Given the description of an element on the screen output the (x, y) to click on. 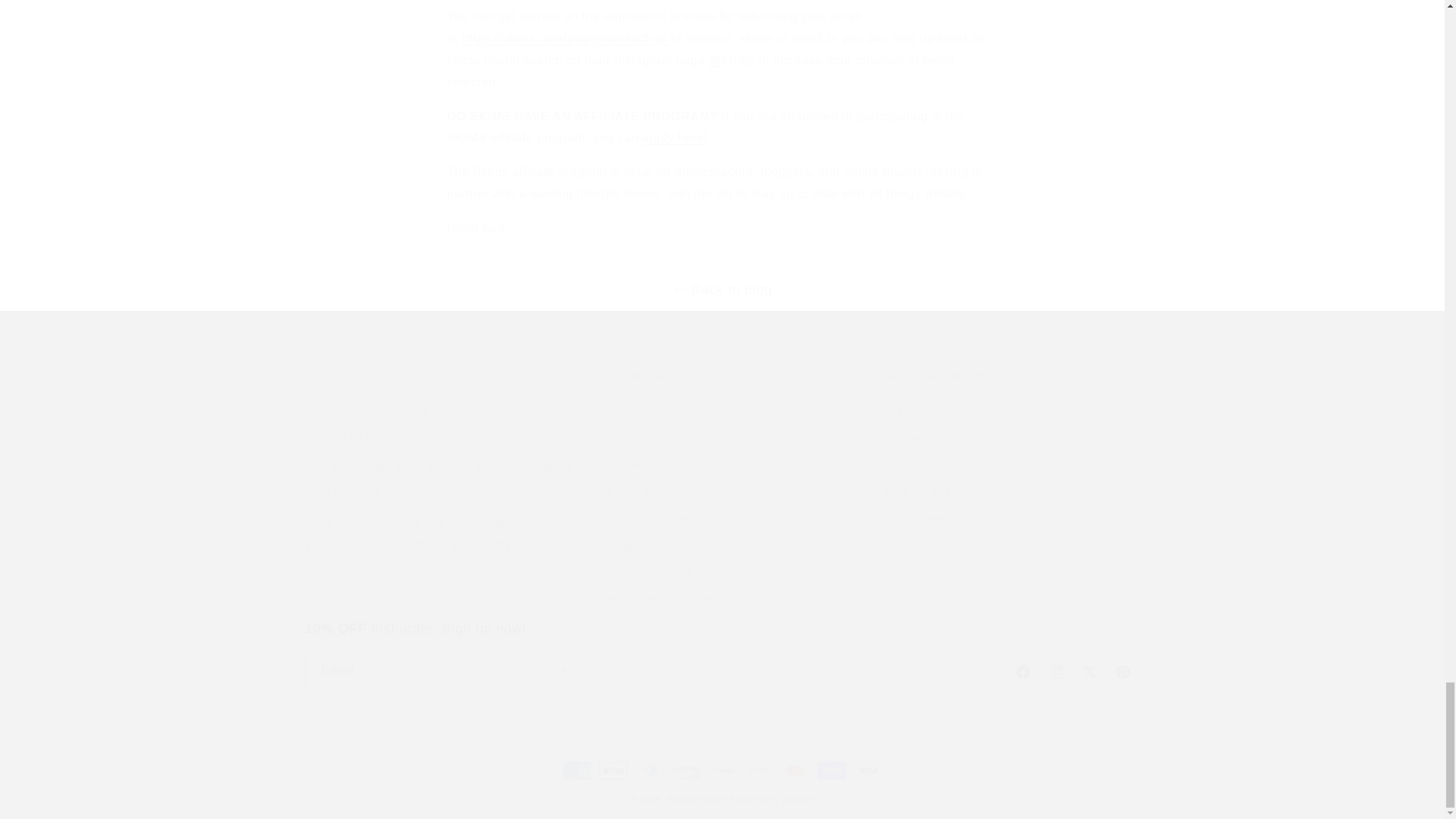
SKIMS DUPE (565, 38)
skims Instagram feed (733, 60)
skims ambassador program (674, 137)
